Given the description of an element on the screen output the (x, y) to click on. 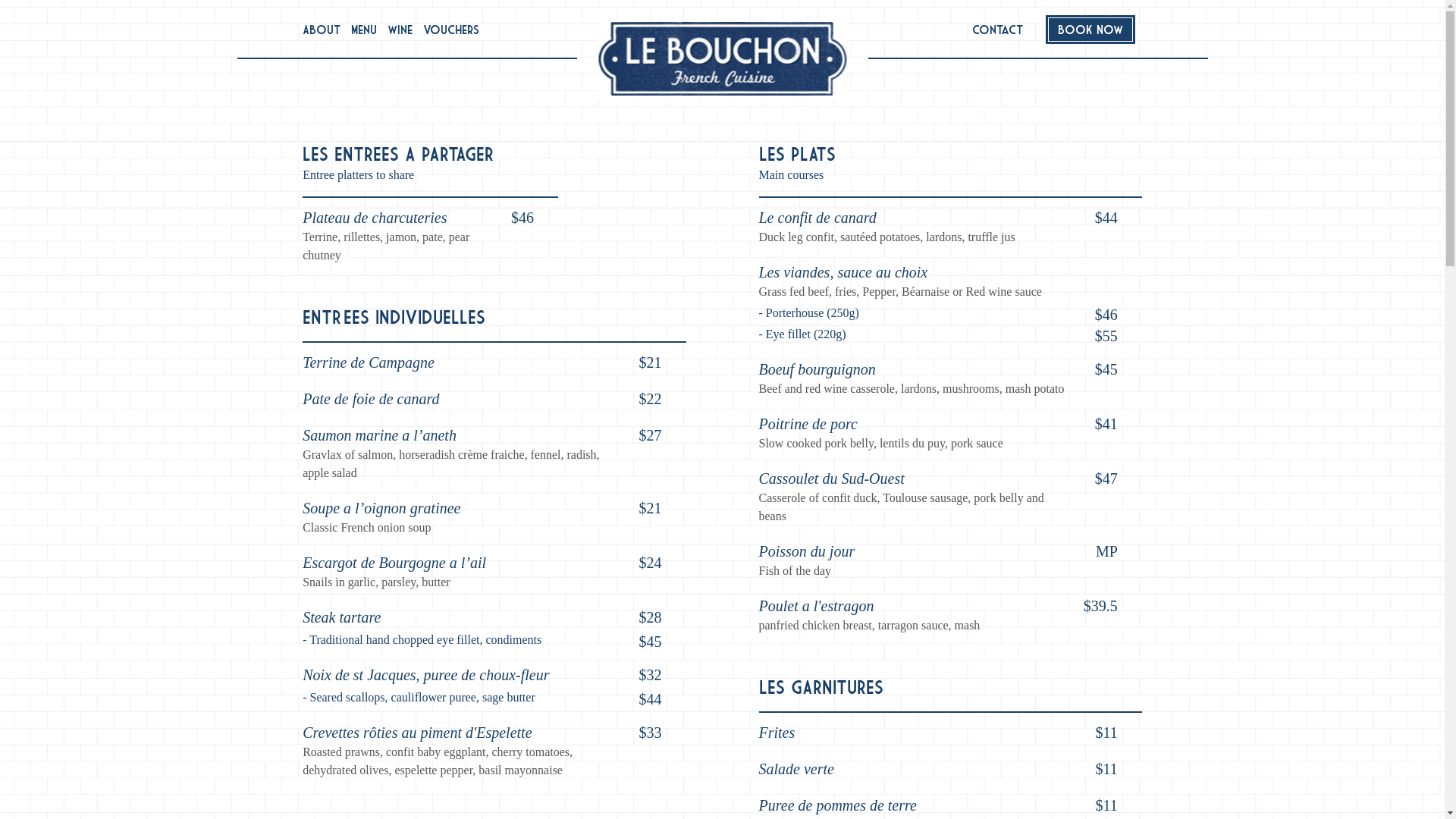
Menu Element type: text (363, 29)
Vouchers Element type: text (451, 29)
Wine Element type: text (399, 29)
About Element type: text (321, 29)
contact Element type: text (997, 29)
BOOK NOW Element type: text (1090, 29)
